Given the description of an element on the screen output the (x, y) to click on. 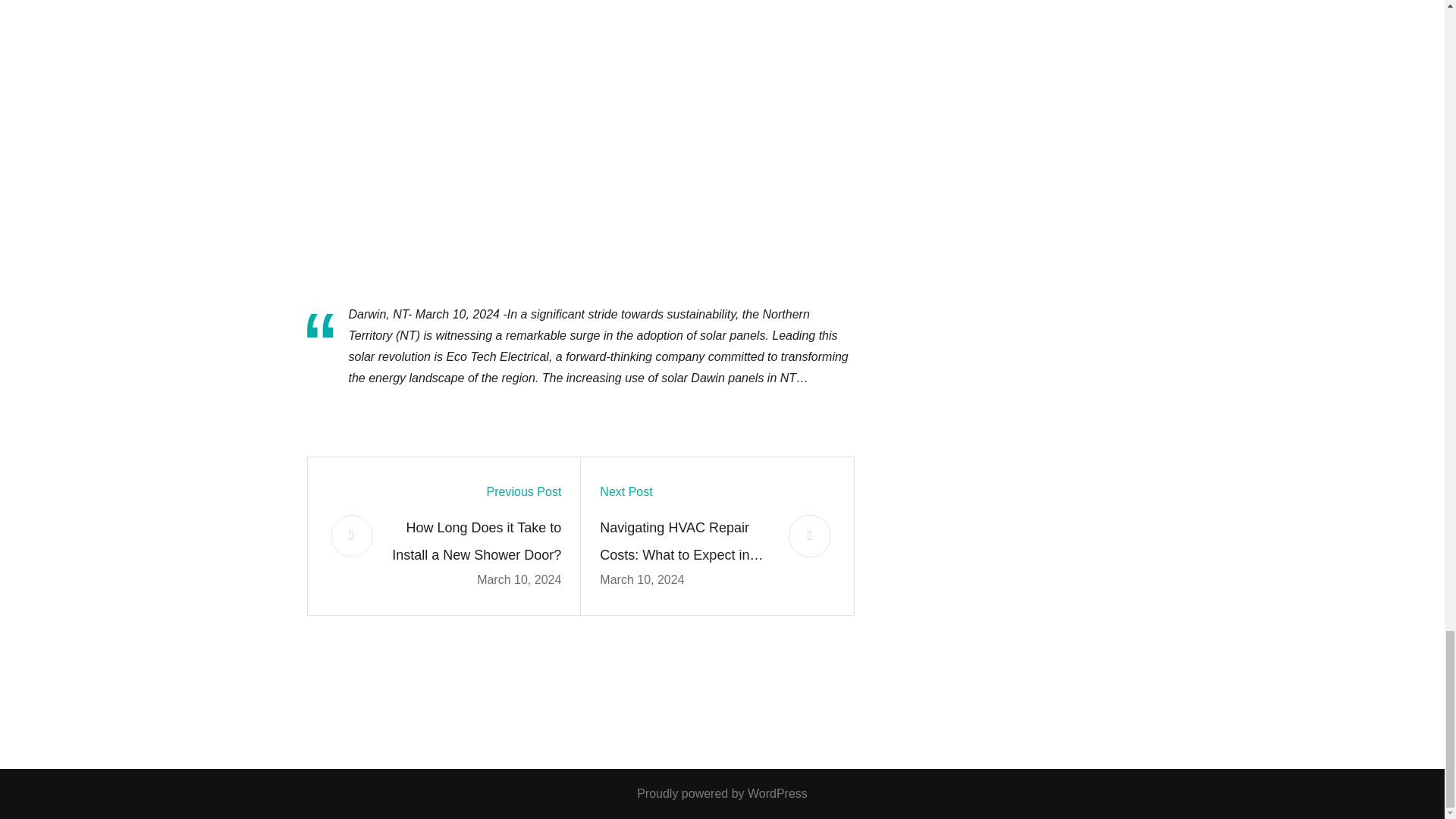
March 10, 2024 (641, 579)
How Long Does it Take to Install a New Shower Door? (475, 541)
March 10, 2024 (518, 579)
